Given the description of an element on the screen output the (x, y) to click on. 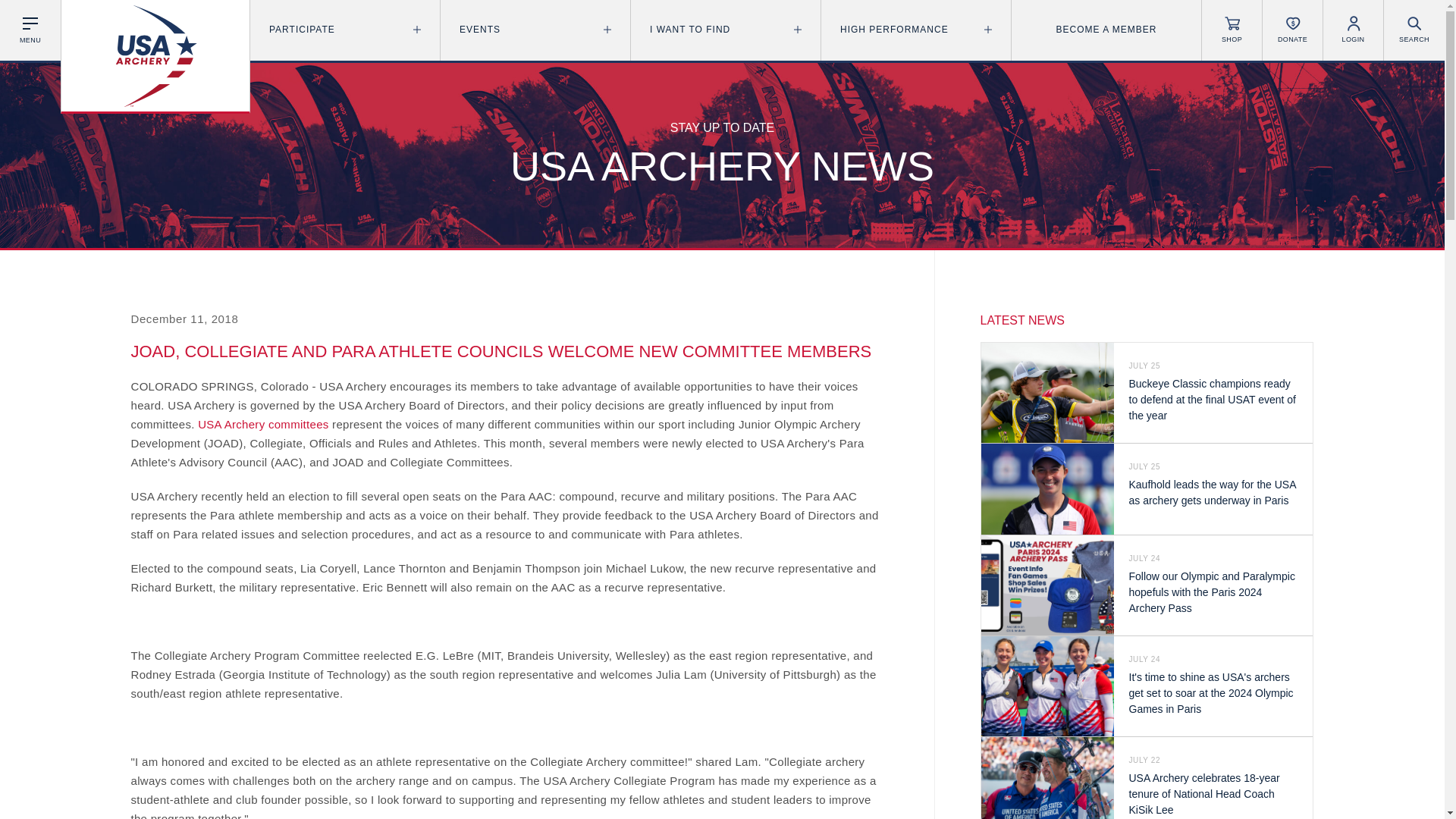
DONATE (1292, 30)
HIGH PERFORMANCE (915, 29)
PARTICIPATE (344, 29)
LOGIN (1353, 30)
EVENTS (535, 29)
I WANT TO FIND (725, 29)
SHOP (1232, 30)
BECOME A MEMBER (1106, 29)
